Given the description of an element on the screen output the (x, y) to click on. 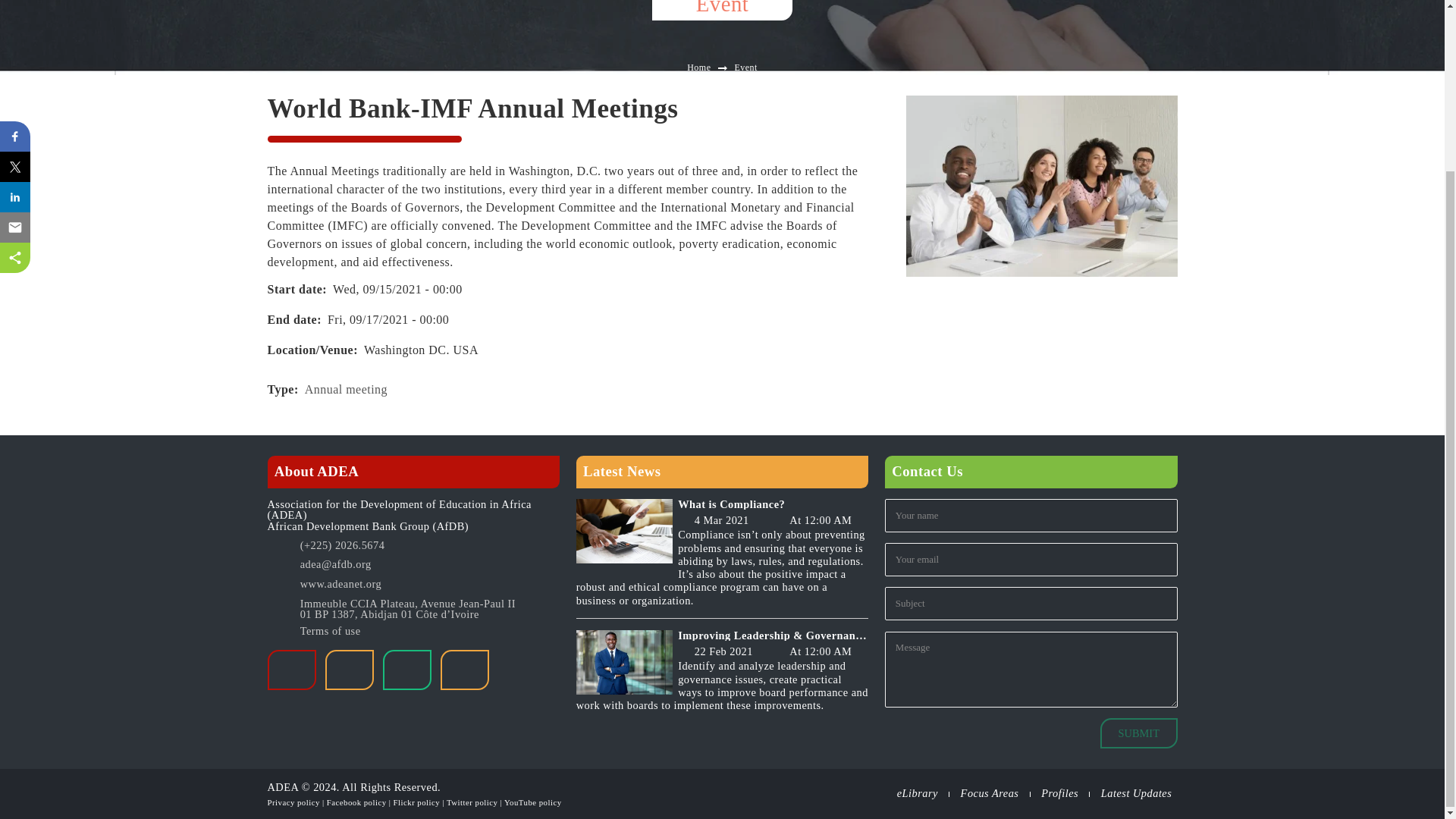
What is Compliance? (772, 503)
Annual meeting (345, 389)
Home (698, 67)
Submit (1138, 733)
Event (745, 67)
Terms of use (330, 630)
www.adeanet.org (429, 585)
